Given the description of an element on the screen output the (x, y) to click on. 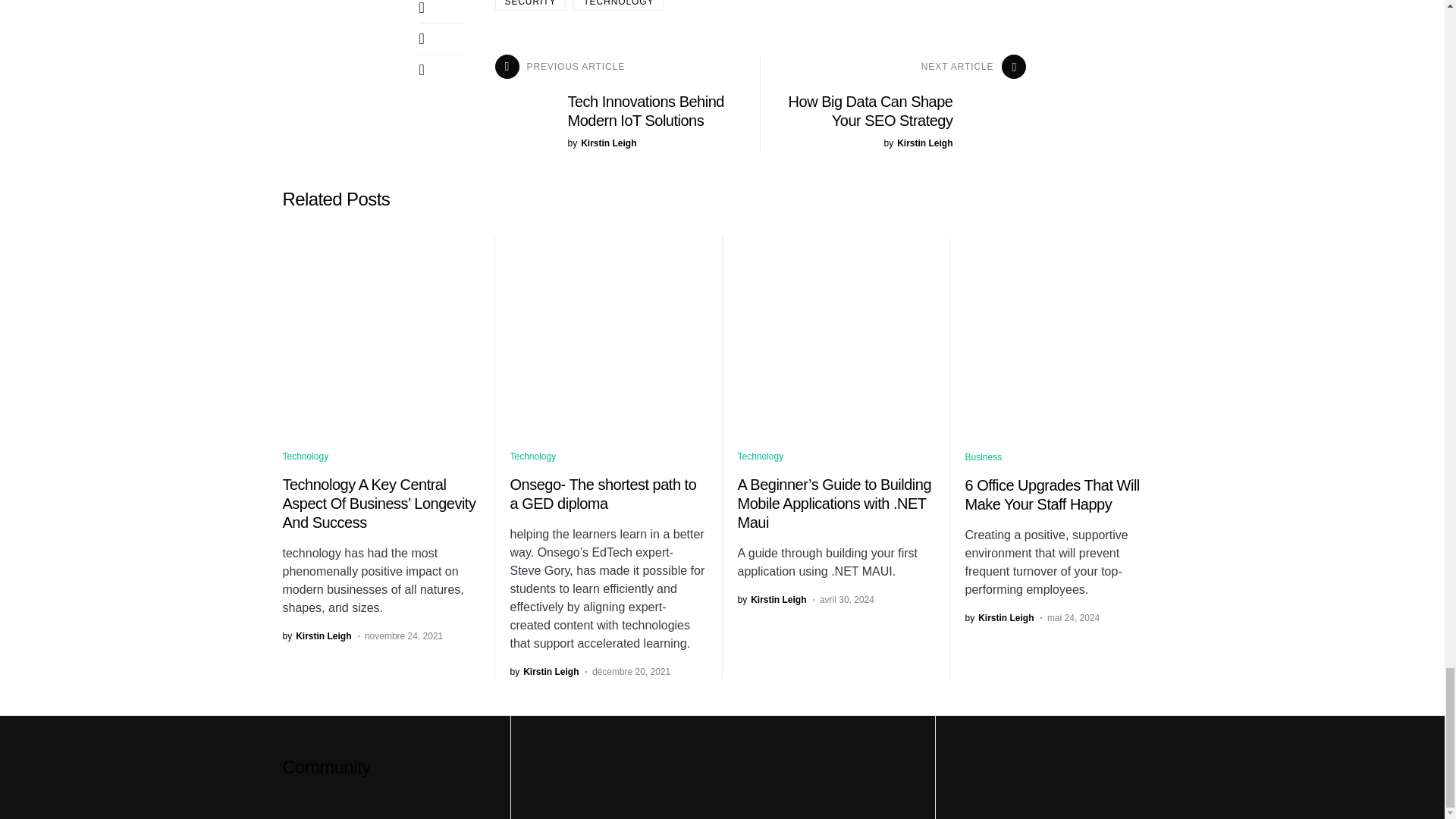
View all posts by Kirstin Leigh (917, 142)
View all posts by Kirstin Leigh (316, 635)
View all posts by Kirstin Leigh (543, 671)
View all posts by Kirstin Leigh (601, 142)
